Given the description of an element on the screen output the (x, y) to click on. 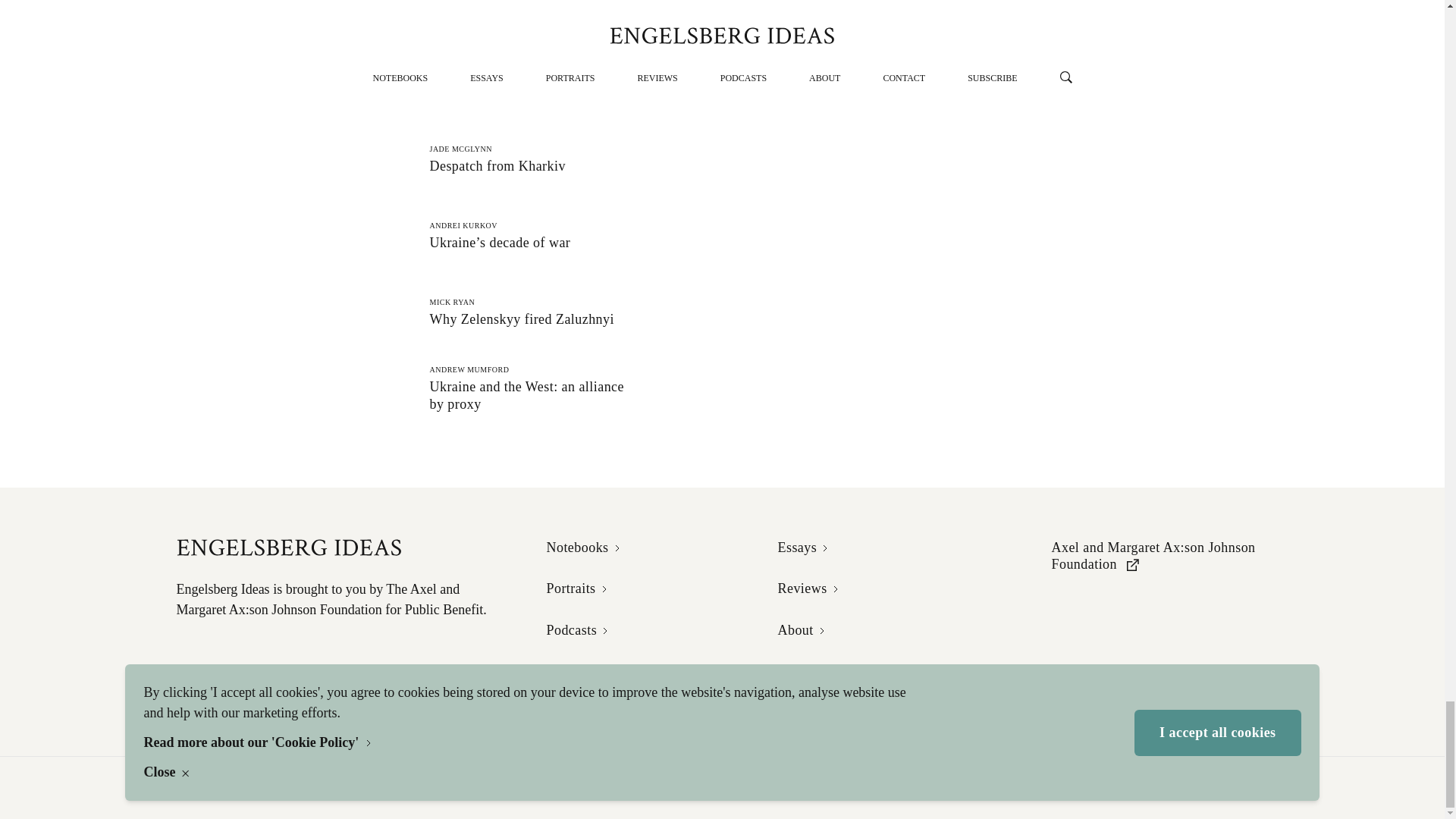
Engelsbergs Ideas (509, 158)
